Given the description of an element on the screen output the (x, y) to click on. 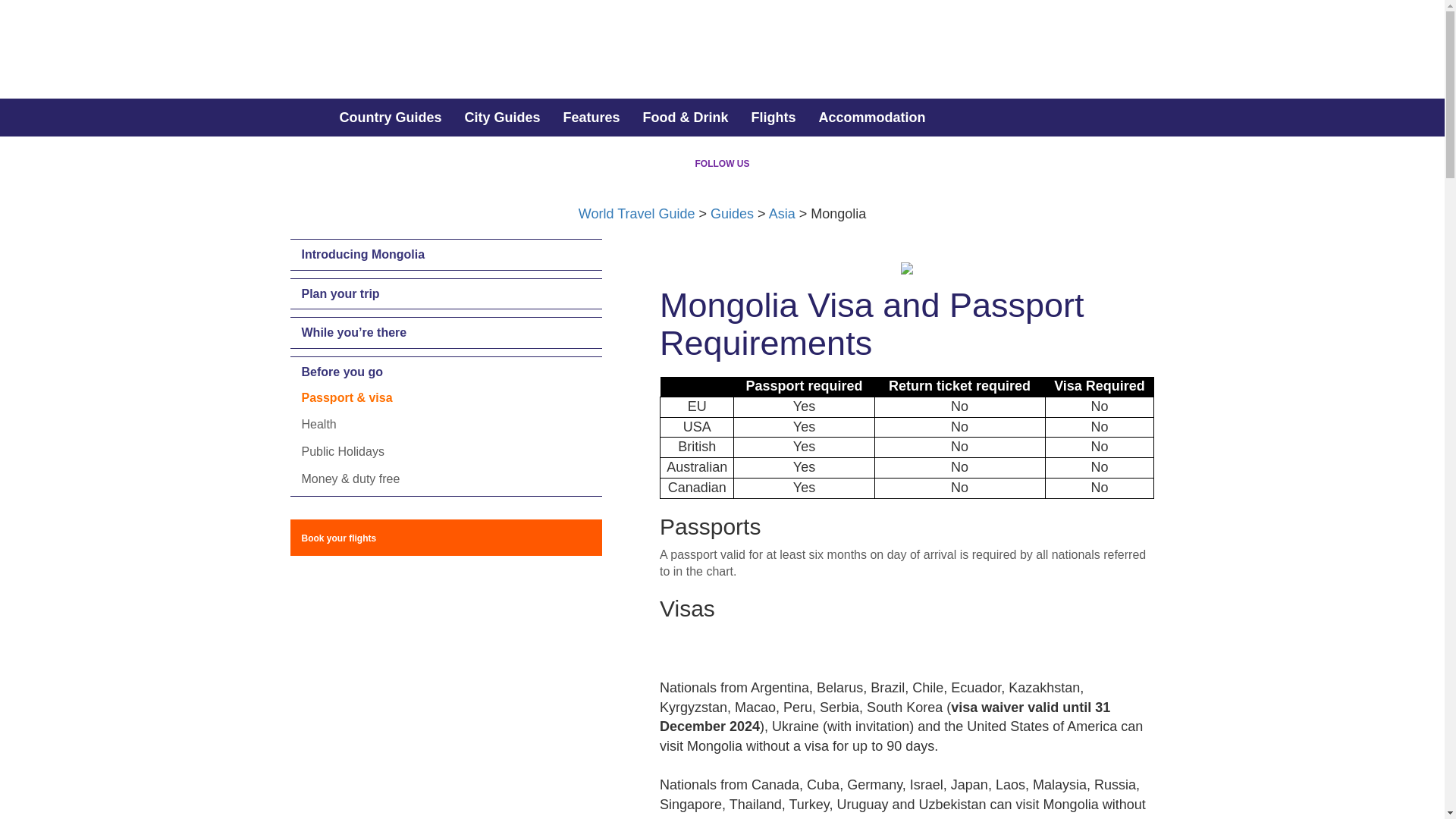
Public Holidays (342, 451)
Plan your trip (446, 294)
Accommodation (872, 117)
Country Guides (389, 117)
Health (318, 423)
Before you go (446, 372)
Asia (781, 213)
City Guides (501, 117)
World Travel Guide (636, 213)
Introducing Mongolia (446, 254)
